Given the description of an element on the screen output the (x, y) to click on. 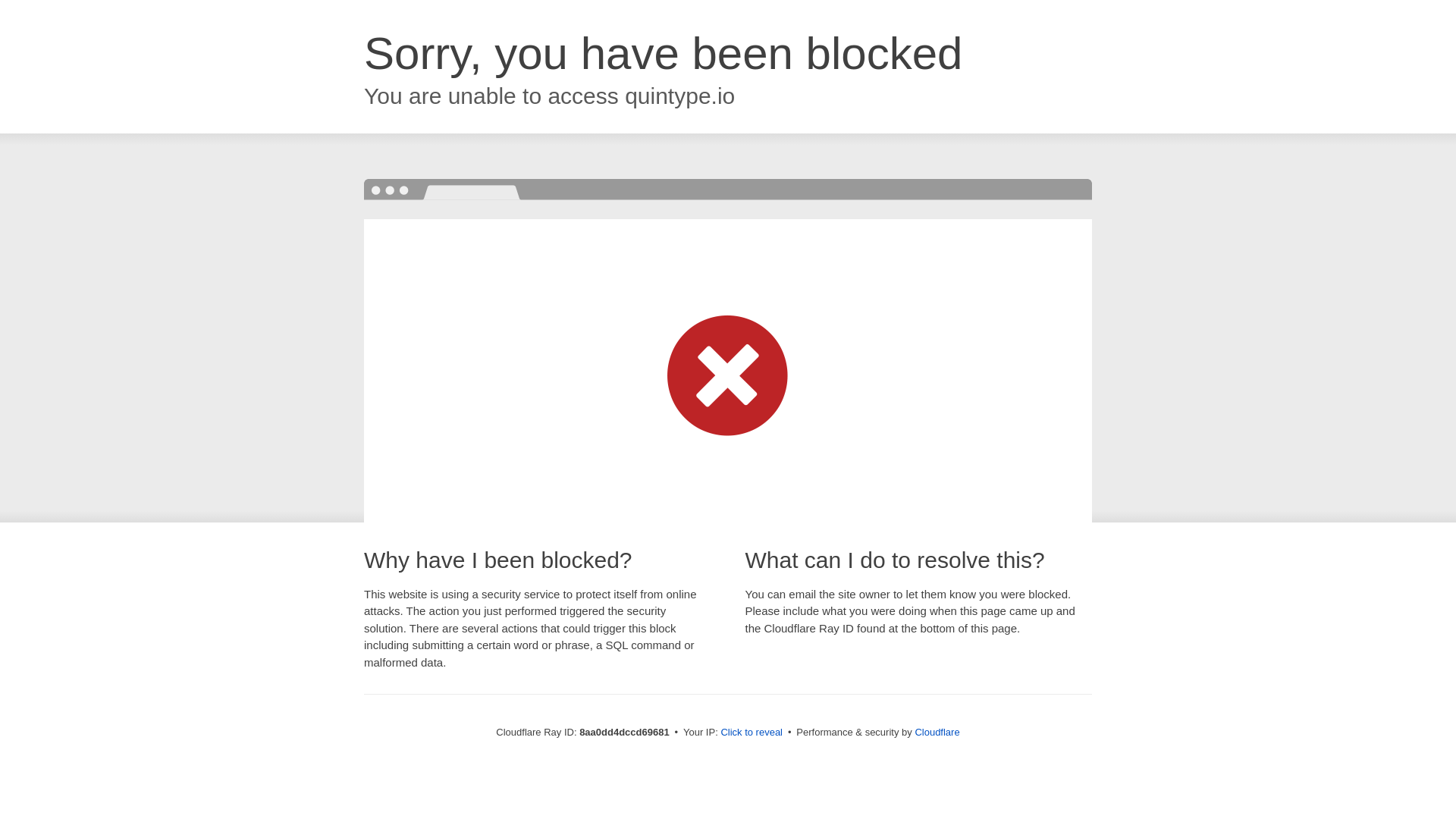
Click to reveal (751, 732)
Cloudflare (936, 731)
